Given the description of an element on the screen output the (x, y) to click on. 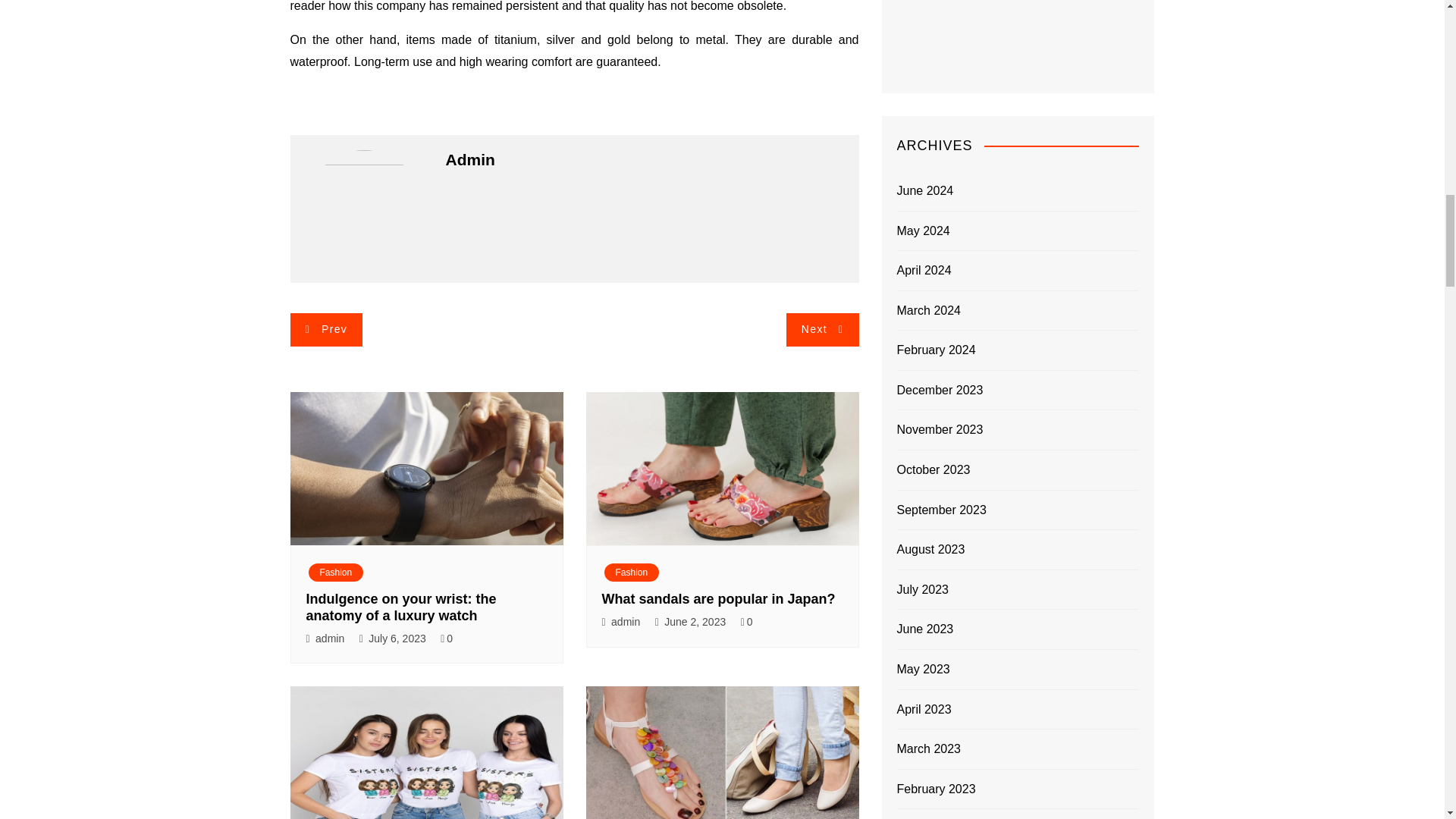
Prev (325, 328)
Next (822, 328)
July 6, 2023 (397, 638)
Fashion (334, 572)
admin (329, 638)
Indulgence on your wrist: the anatomy of a luxury watch (400, 607)
